Given the description of an element on the screen output the (x, y) to click on. 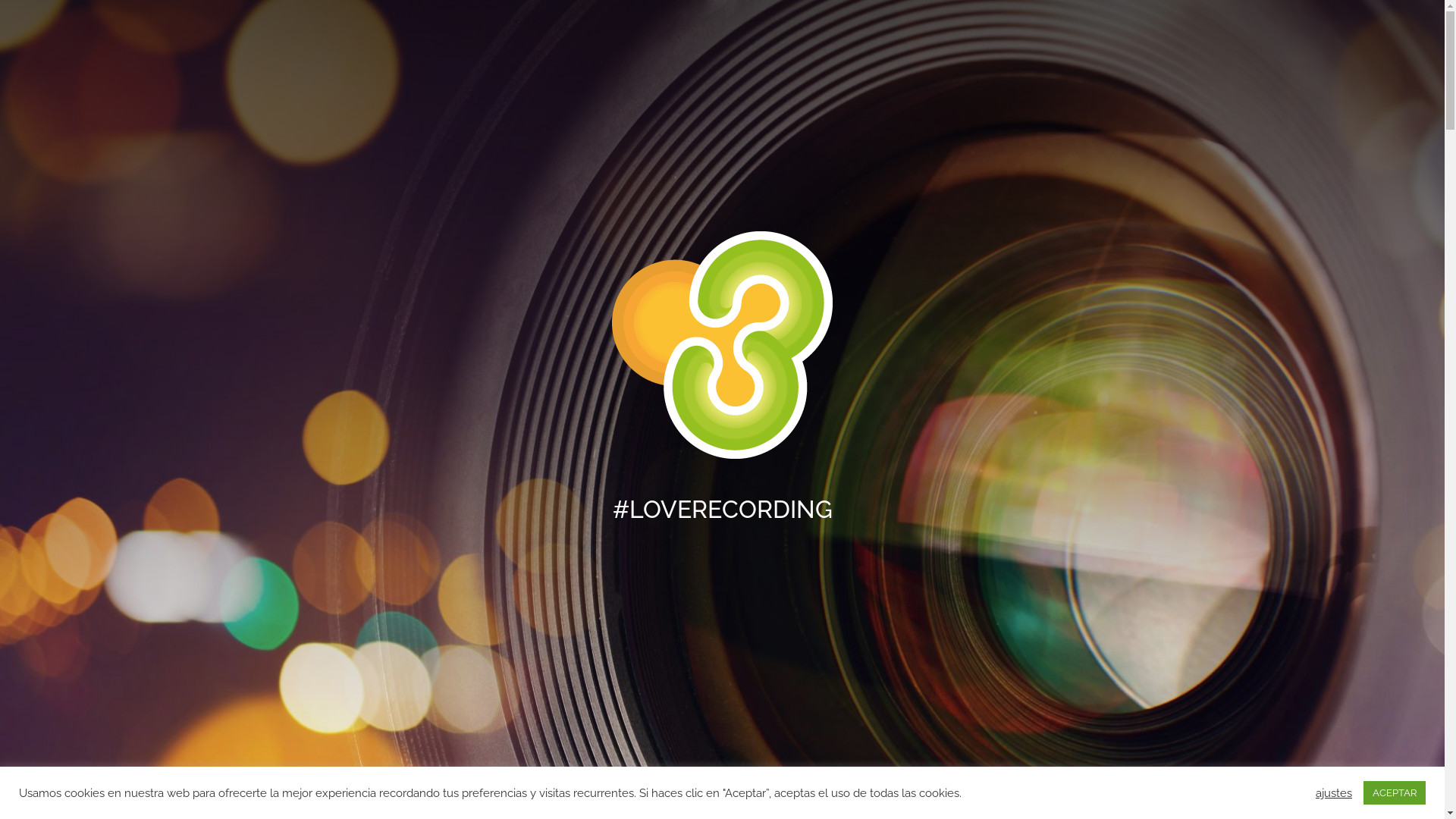
ajustes Element type: text (1333, 792)
" Element type: text (721, 783)
ACEPTAR Element type: text (1394, 792)
